Given the description of an element on the screen output the (x, y) to click on. 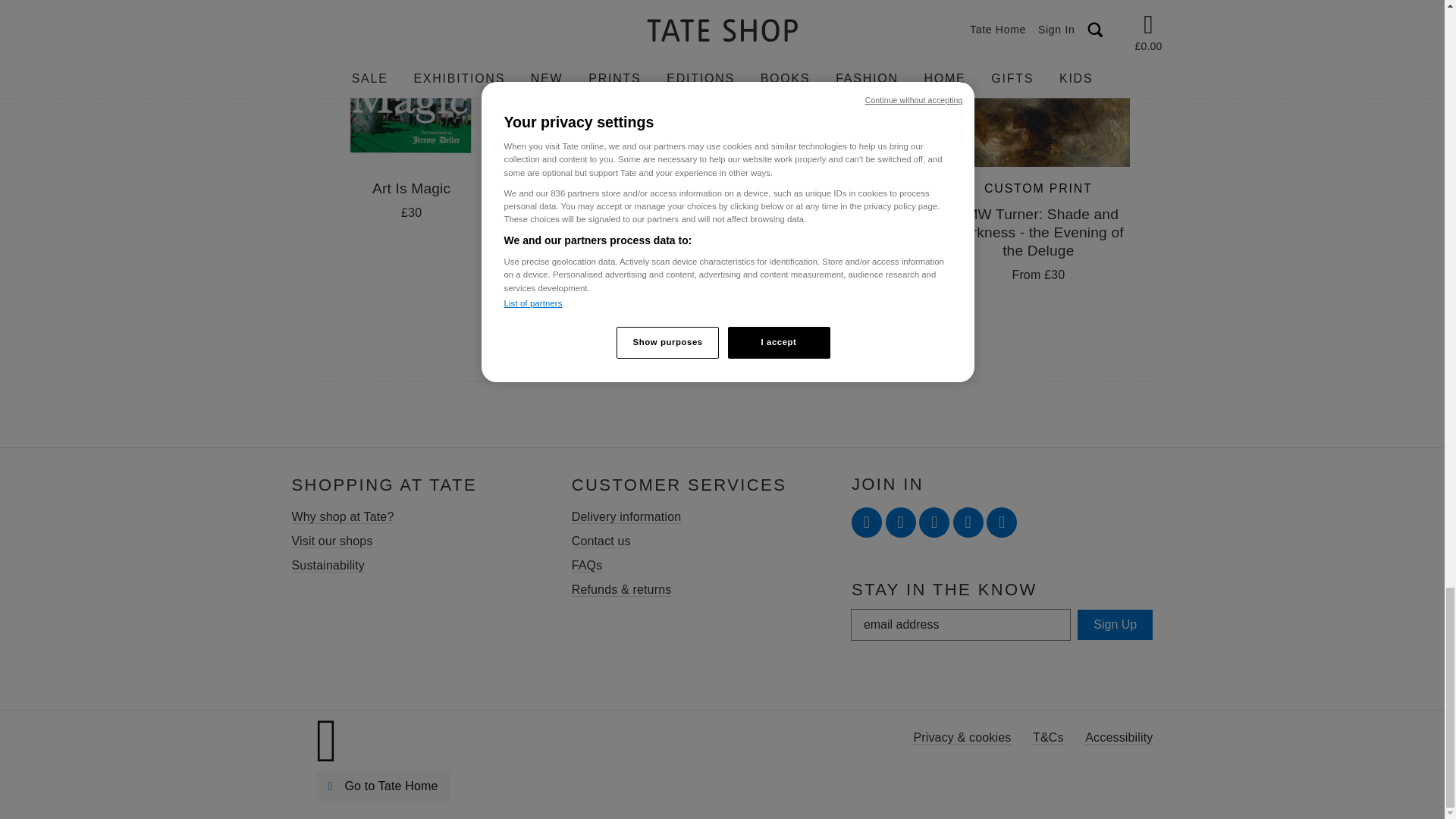
email address (960, 624)
